Given the description of an element on the screen output the (x, y) to click on. 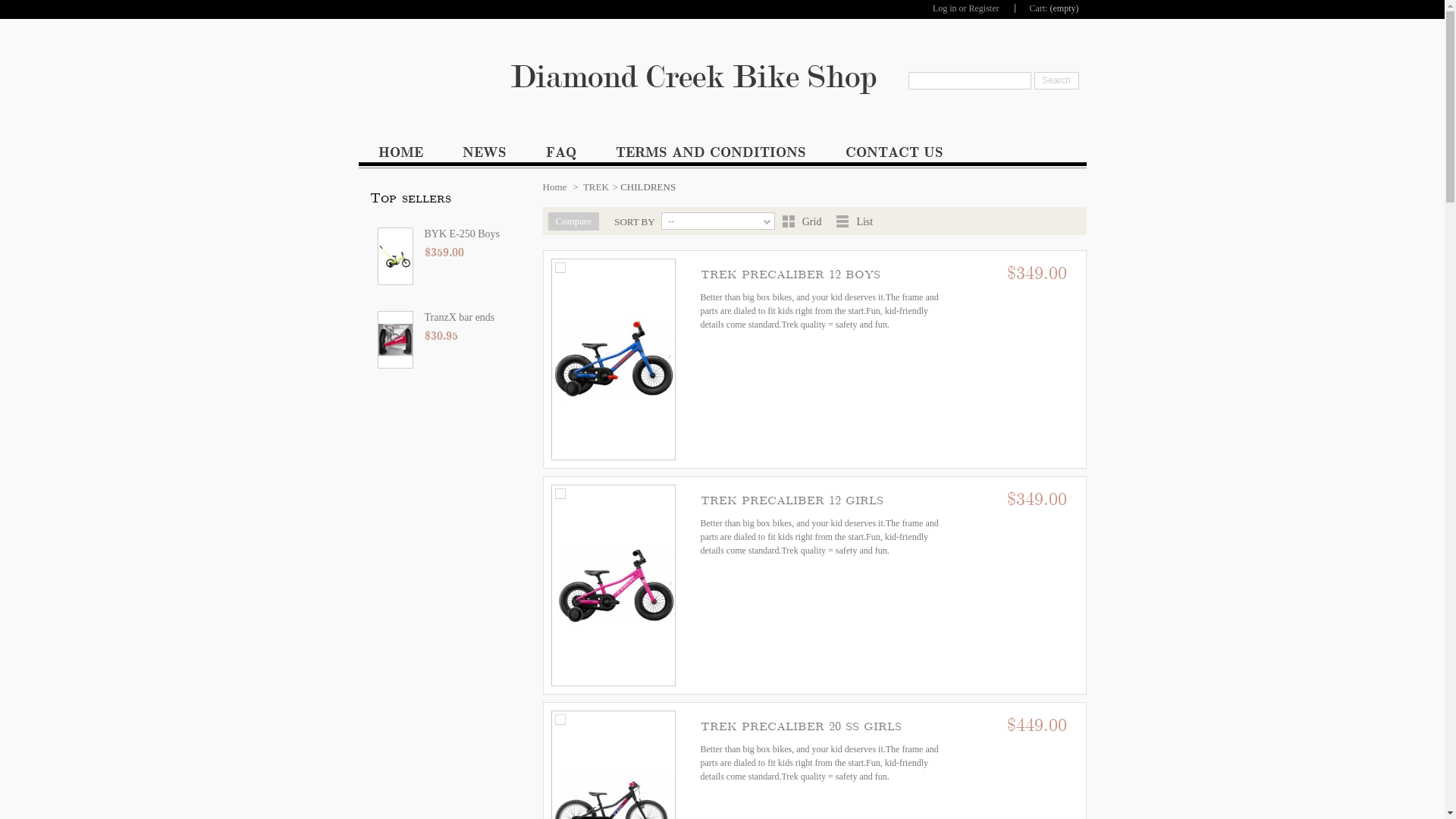
-- Element type: text (718, 220)
Log in Element type: text (944, 7)
TERMS AND CONDITIONS Element type: text (710, 155)
TREK PRECALIBER 12 BOYS Element type: text (790, 274)
Diamond Creek Bike Shop        Element type: text (721, 76)
FAQ Element type: text (560, 155)
TREK PRECALIBER 12 GIRLS  Element type: hover (612, 585)
Cart: Element type: text (1038, 8)
Compare Element type: text (573, 221)
Top sellers Element type: text (410, 198)
NEWS Element type: text (484, 155)
TREK Element type: text (595, 186)
HOME Element type: text (399, 155)
list Element type: hover (842, 221)
Home Element type: text (554, 186)
TREK PRECALIBER 12 BOYS  Element type: hover (612, 359)
TREK PRECALIBER 12 GIRLS Element type: text (791, 500)
Search Element type: text (1056, 80)
Register Element type: text (984, 7)
CONTACT US Element type: text (893, 155)
grid Element type: hover (788, 221)
BYK E-250 Boys Element type: text (448, 235)
TranzX bar ends Element type: text (448, 319)
TREK PRECALIBER 20 SS GIRLS Element type: text (800, 726)
